Given the description of an element on the screen output the (x, y) to click on. 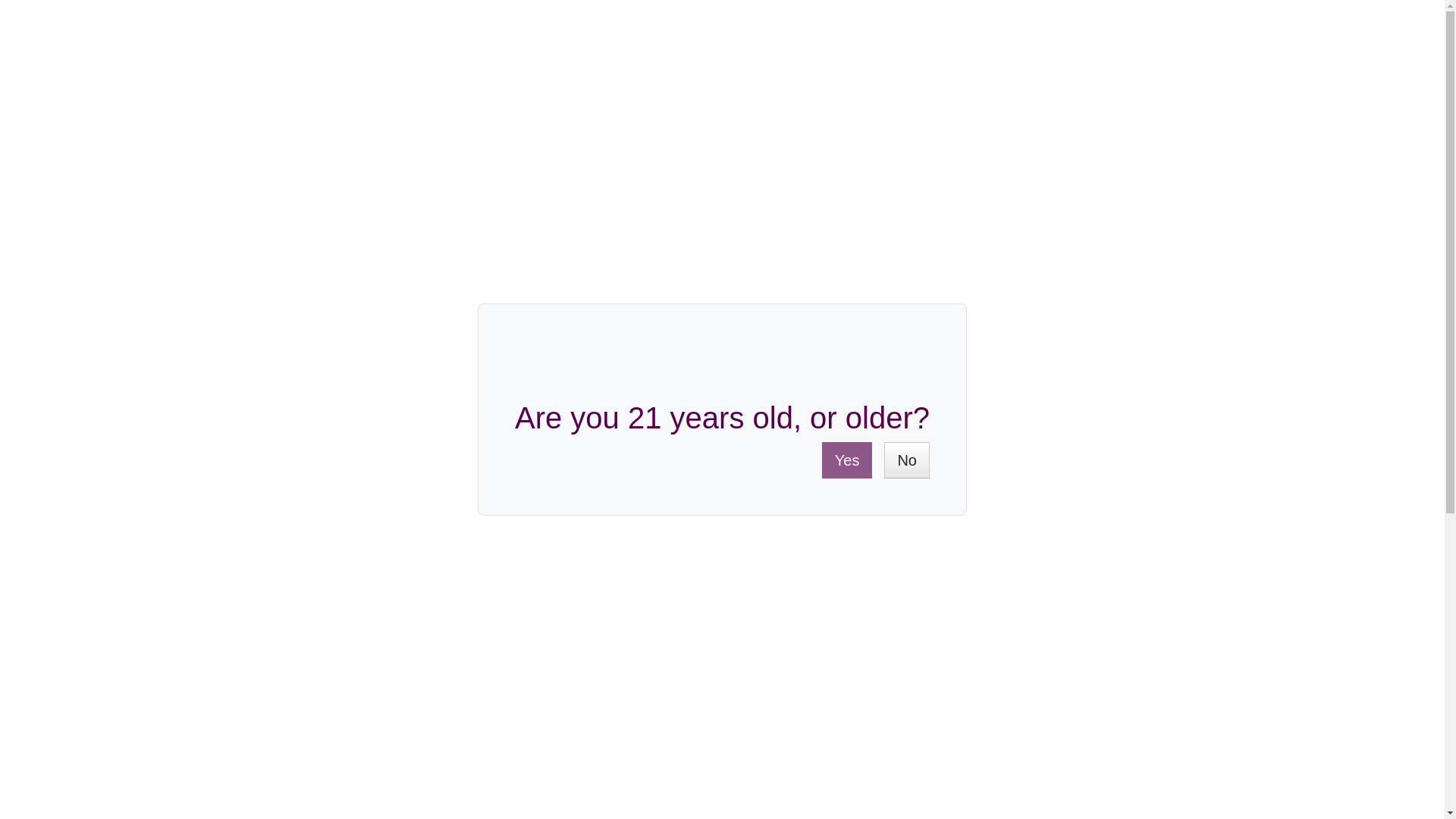
Twitter (1117, 432)
CONTACT US (1257, 57)
NEW ARRIVALS (1053, 146)
SHOP WINE (379, 146)
Pinterest (1139, 432)
SHOP SPIRITS (710, 146)
Mexico (476, 708)
Add to Cart (903, 334)
4 Copas (479, 739)
Email (1160, 432)
